Given the description of an element on the screen output the (x, y) to click on. 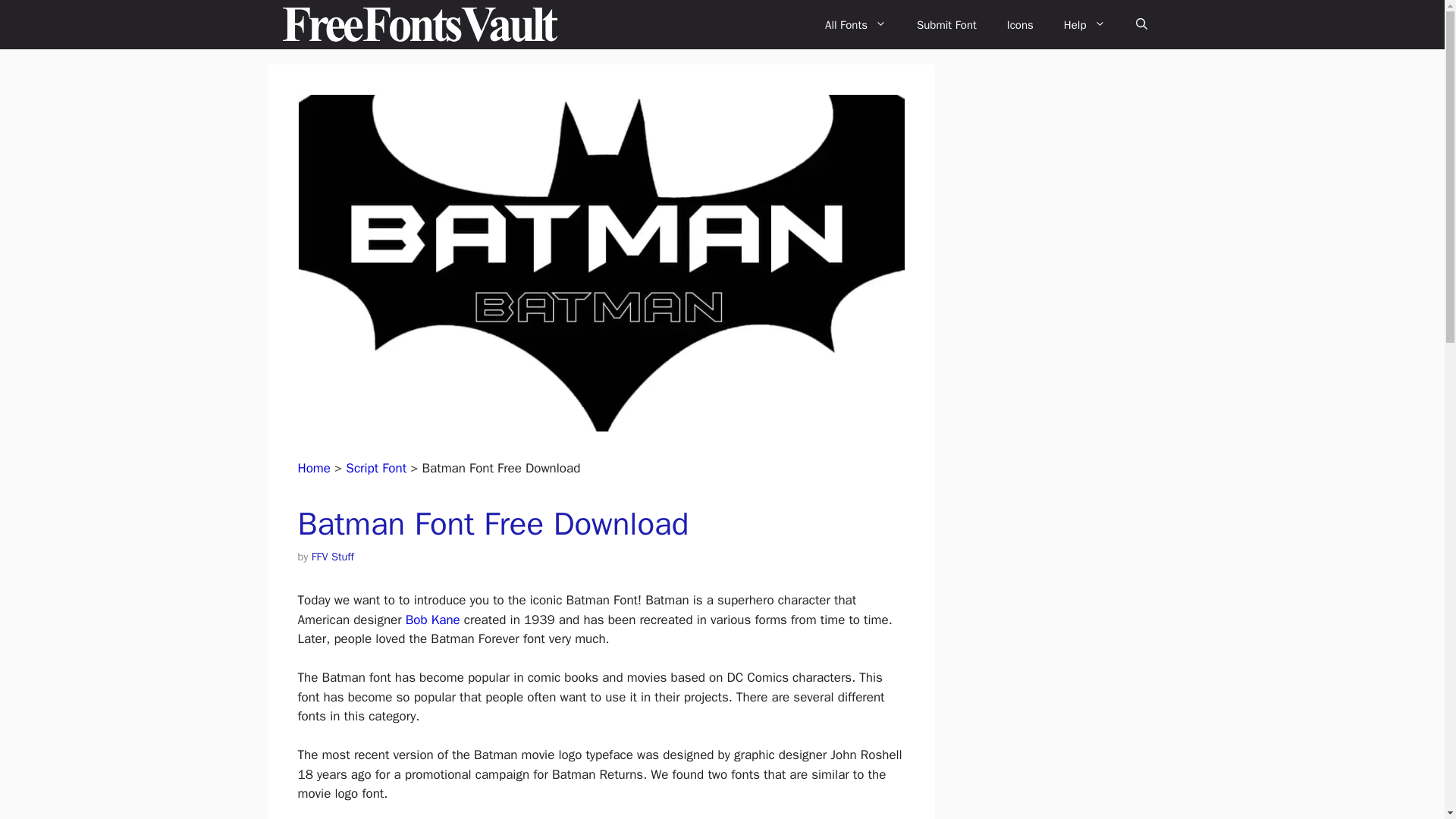
Free Fonts Vault (419, 24)
View all posts by FFV Stuff (332, 556)
